Given the description of an element on the screen output the (x, y) to click on. 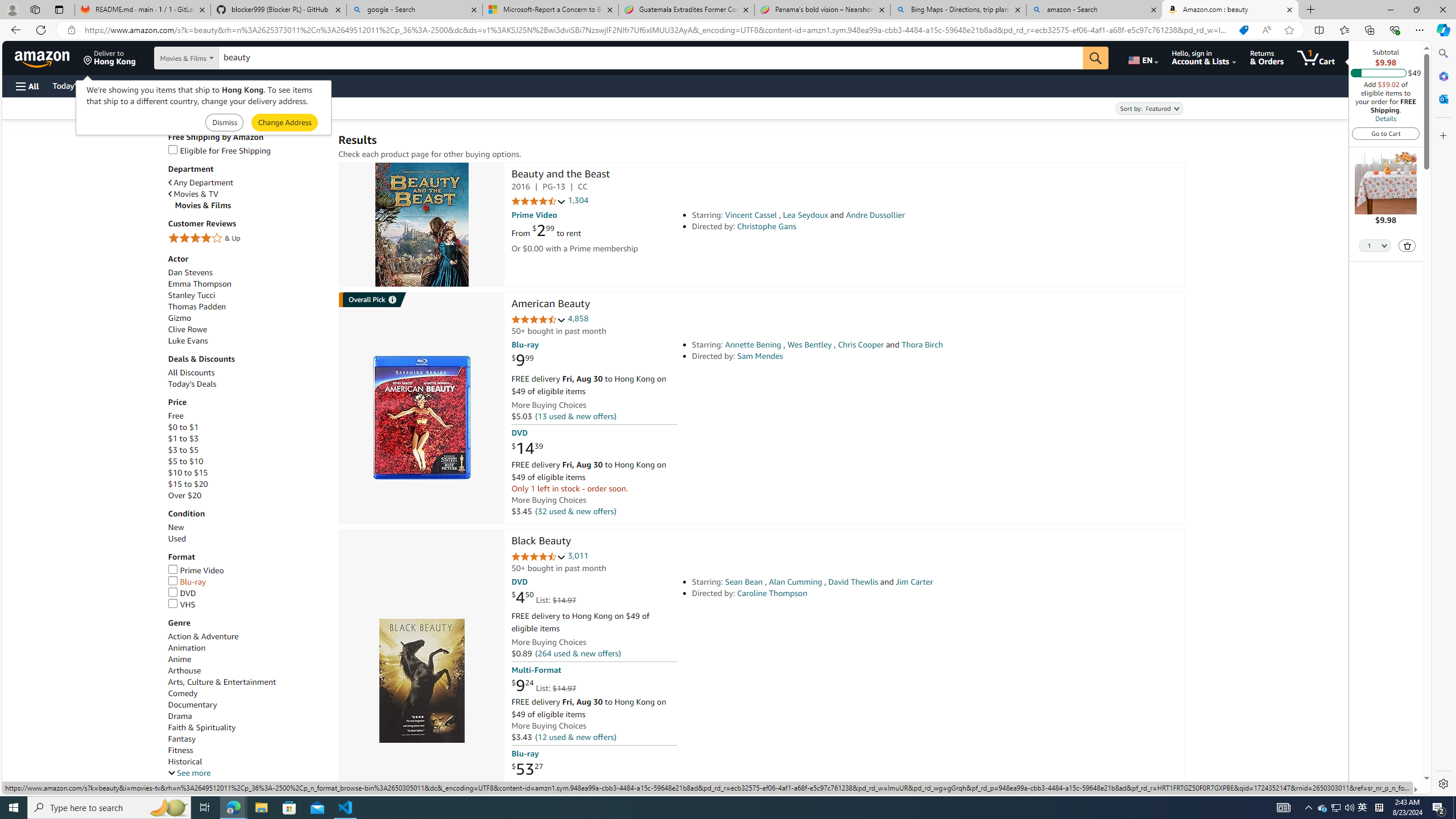
Clive Rowe (247, 329)
Sort by: (1148, 108)
Drama (179, 715)
Eligible for Free Shipping (218, 150)
Registry (205, 85)
4,858 (577, 318)
$5 to $10 (247, 461)
Arthouse (183, 670)
(32 used & new offers) (574, 511)
Over $20 (247, 495)
Animation (186, 647)
